Given the description of an element on the screen output the (x, y) to click on. 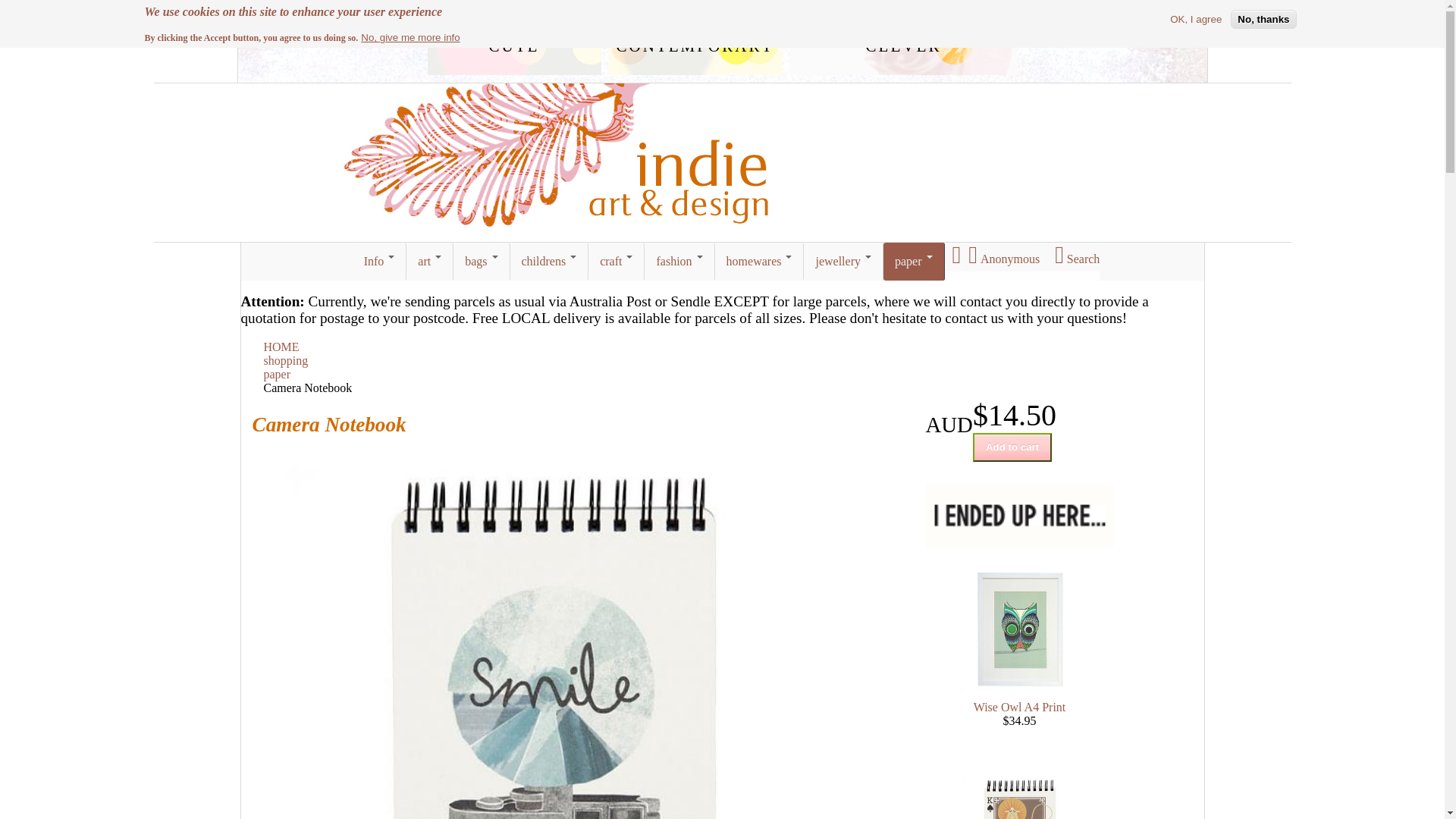
cute Element type: text (513, 43)
paper Element type: text (277, 373)
fashion Element type: text (679, 261)
OK, I agree Element type: text (1195, 19)
art Element type: text (429, 261)
Search Element type: text (1073, 256)
shopping Element type: text (285, 360)
homewares Element type: text (759, 261)
Add to cart Element type: text (1011, 447)
clever Element type: text (903, 43)
No, give me more info Element type: text (409, 37)
childrens Element type: text (549, 261)
HOME Element type: text (281, 346)
Anonymous Element type: text (999, 256)
Wise Owl A4 Print Element type: text (1019, 706)
craft Element type: text (616, 261)
Info Element type: text (379, 261)
No, thanks Element type: text (1262, 18)
bags Element type: text (481, 261)
jewellery Element type: text (843, 261)
contemporary Element type: text (694, 43)
paper Element type: text (913, 261)
Wise Owl A4 Print by I Ended Up Here Element type: hover (1019, 629)
Skip to main content Element type: text (6, 6)
